Given the description of an element on the screen output the (x, y) to click on. 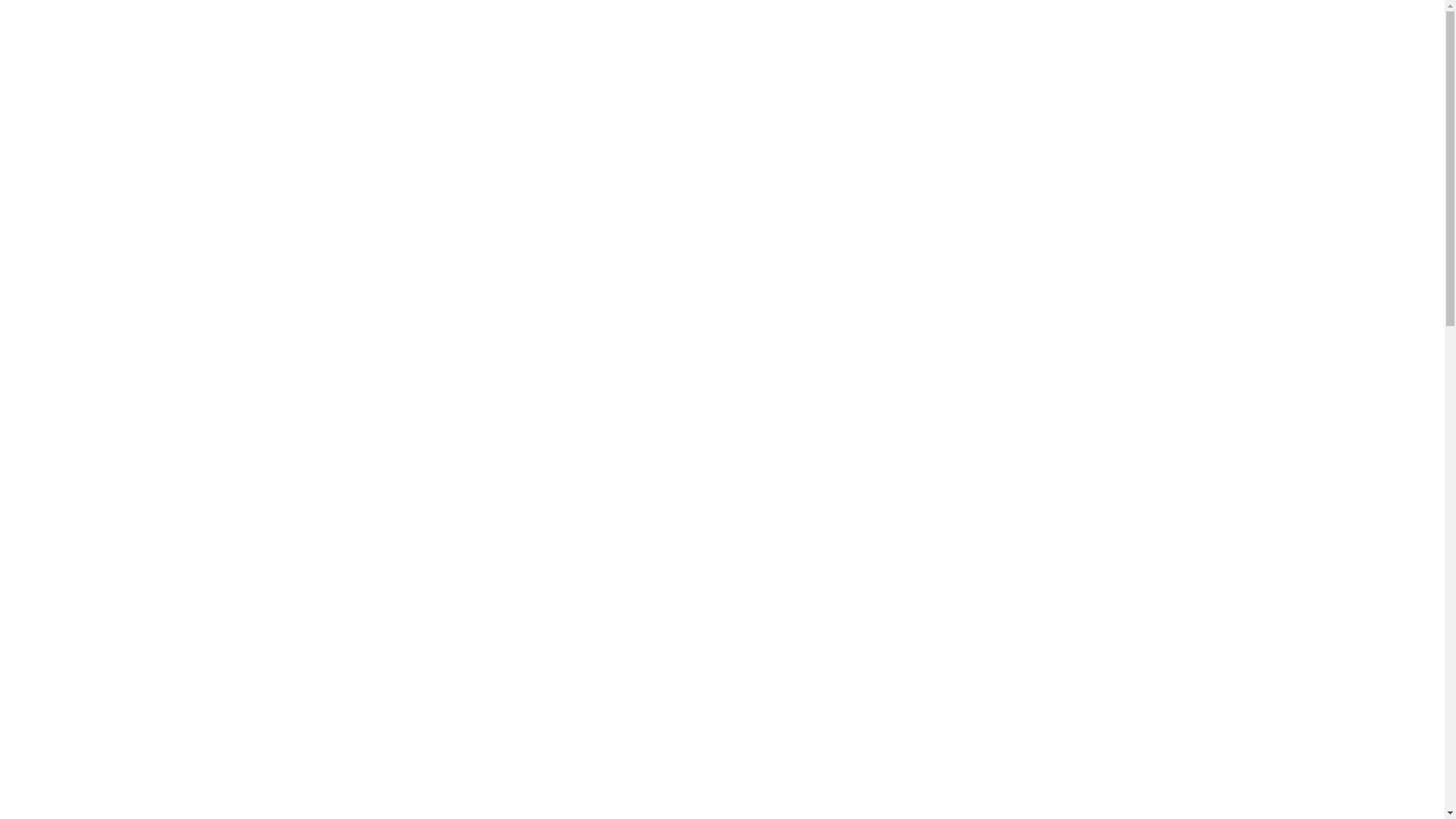
mehr Element type: text (784, 696)
Kontakt Element type: text (518, 696)
